Given the description of an element on the screen output the (x, y) to click on. 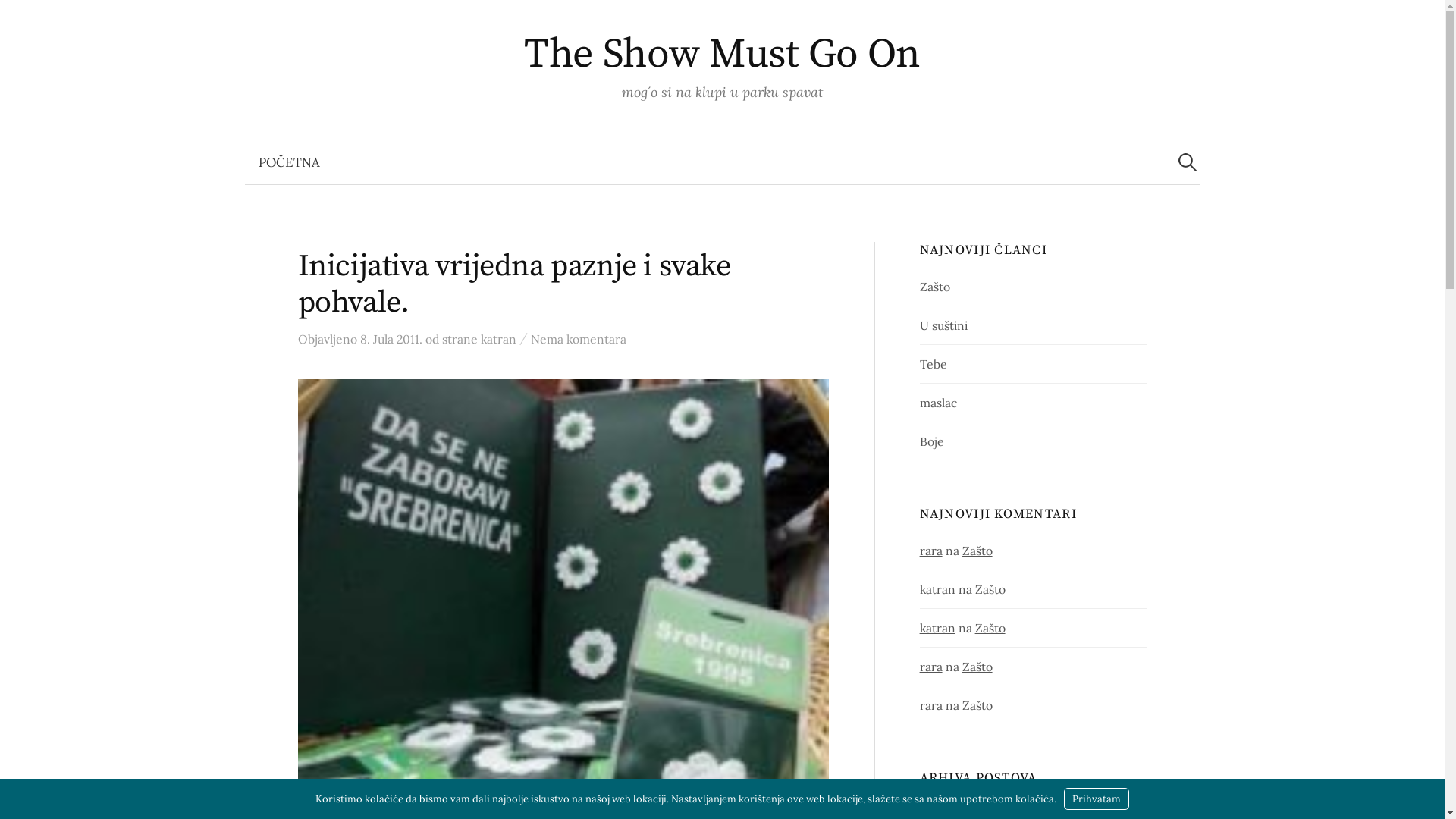
The Show Must Go On Element type: text (722, 54)
rara Element type: text (930, 550)
Tebe Element type: text (933, 363)
Pretraga Element type: text (18, 18)
Boje Element type: text (931, 440)
8. Jula 2011. Element type: text (390, 339)
katran Element type: text (937, 588)
rara Element type: text (930, 666)
rara Element type: text (930, 704)
maslac Element type: text (938, 402)
katran Element type: text (498, 339)
katran Element type: text (937, 627)
Prihvatam Element type: text (1096, 798)
